Given the description of an element on the screen output the (x, y) to click on. 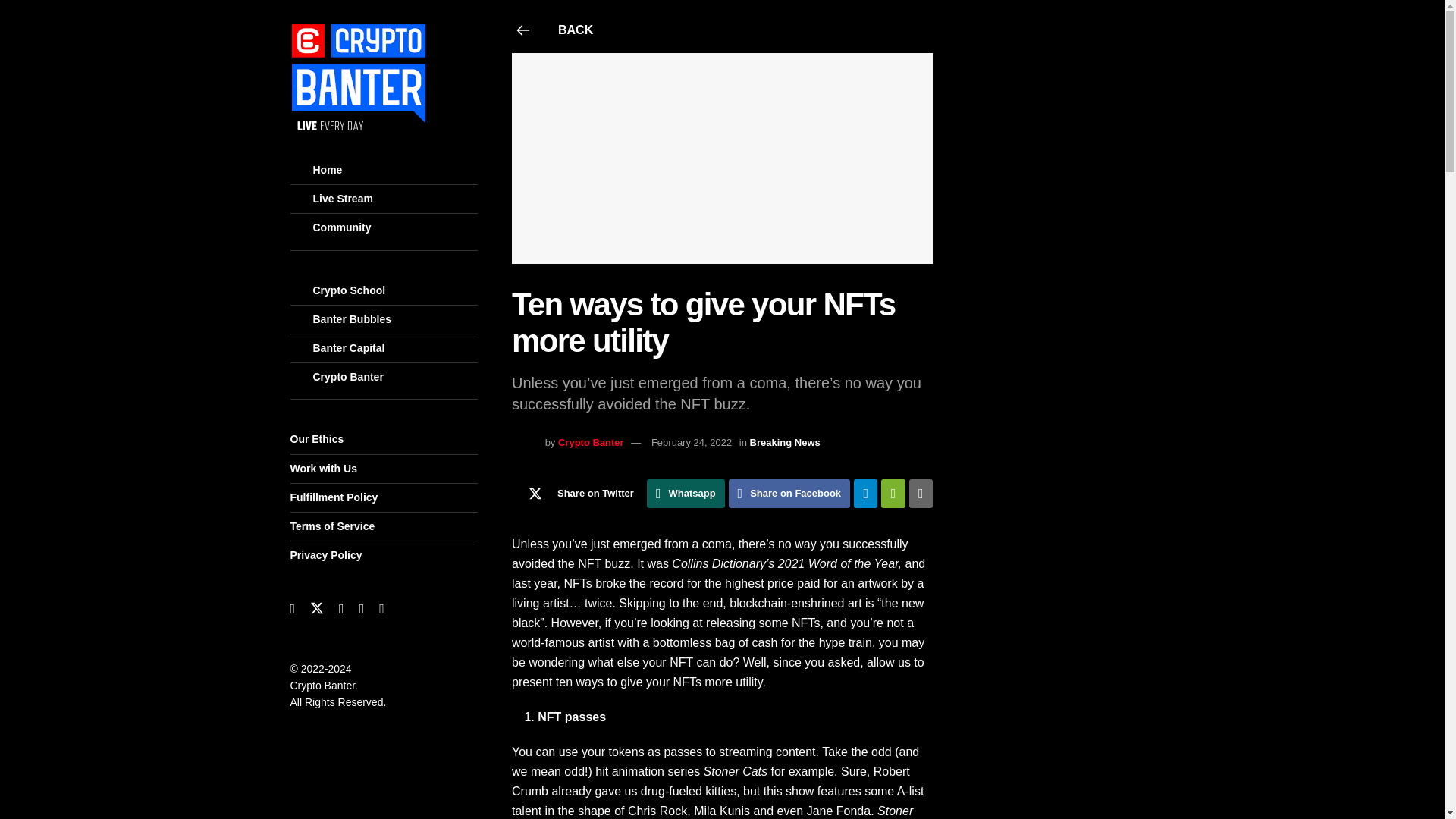
Share on Twitter (577, 493)
Crypto Banter (590, 441)
February 24, 2022 (691, 441)
Whatsapp (685, 493)
Share on Facebook (789, 493)
BACK (724, 29)
Breaking News (785, 441)
